Given the description of an element on the screen output the (x, y) to click on. 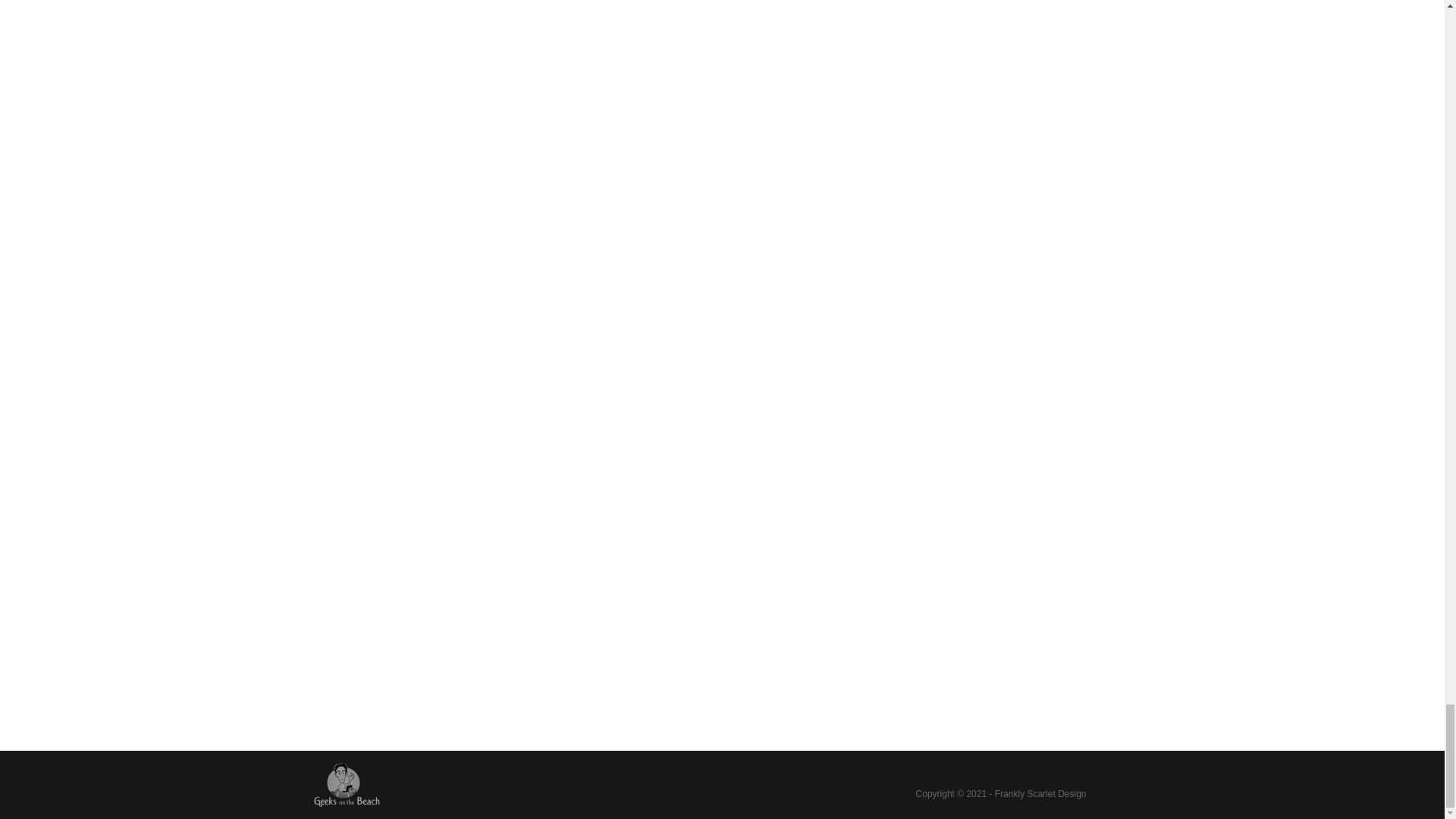
Send (1089, 489)
